Given the description of an element on the screen output the (x, y) to click on. 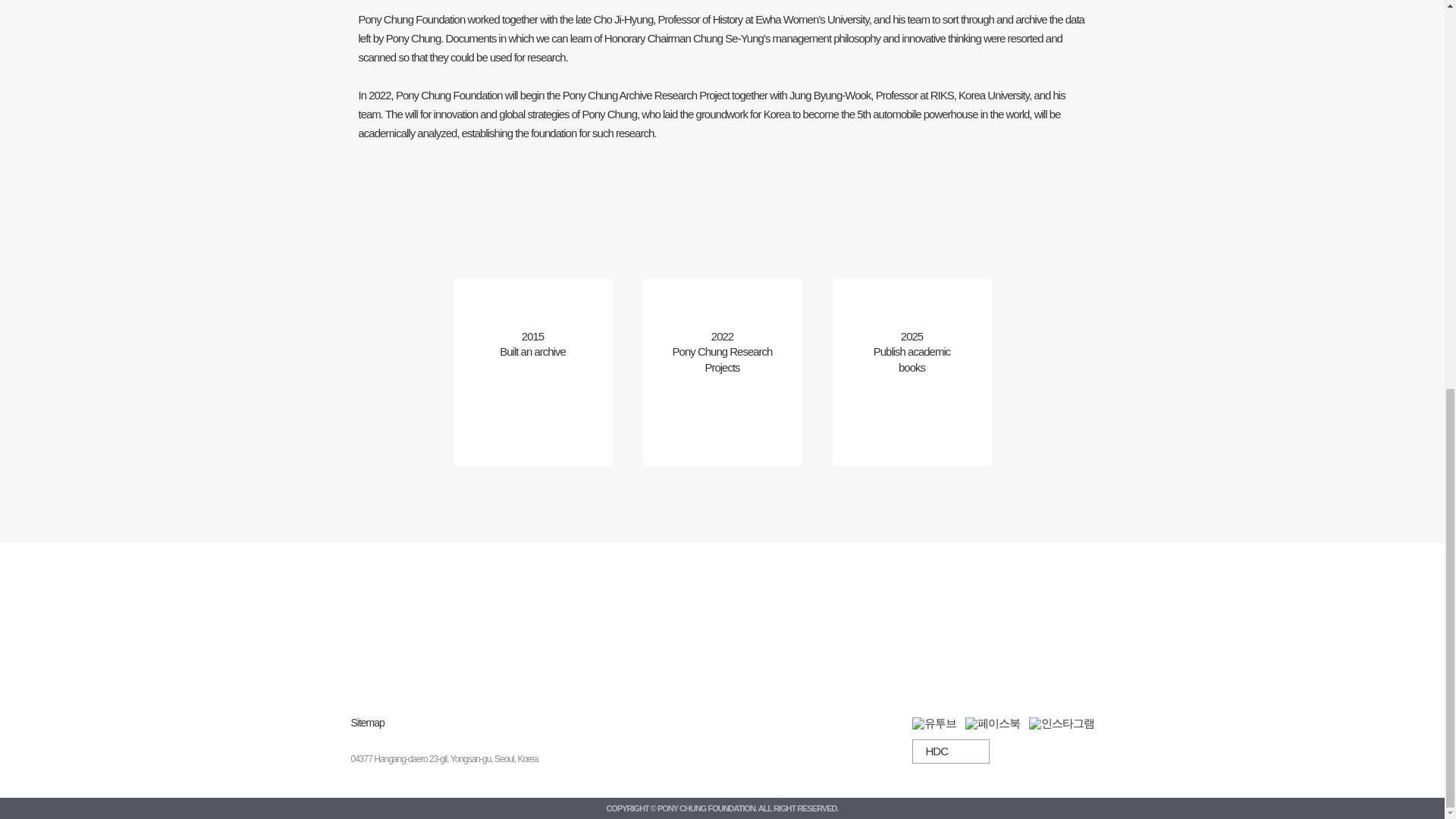
Sitemap (367, 722)
HDC (949, 751)
